Given the description of an element on the screen output the (x, y) to click on. 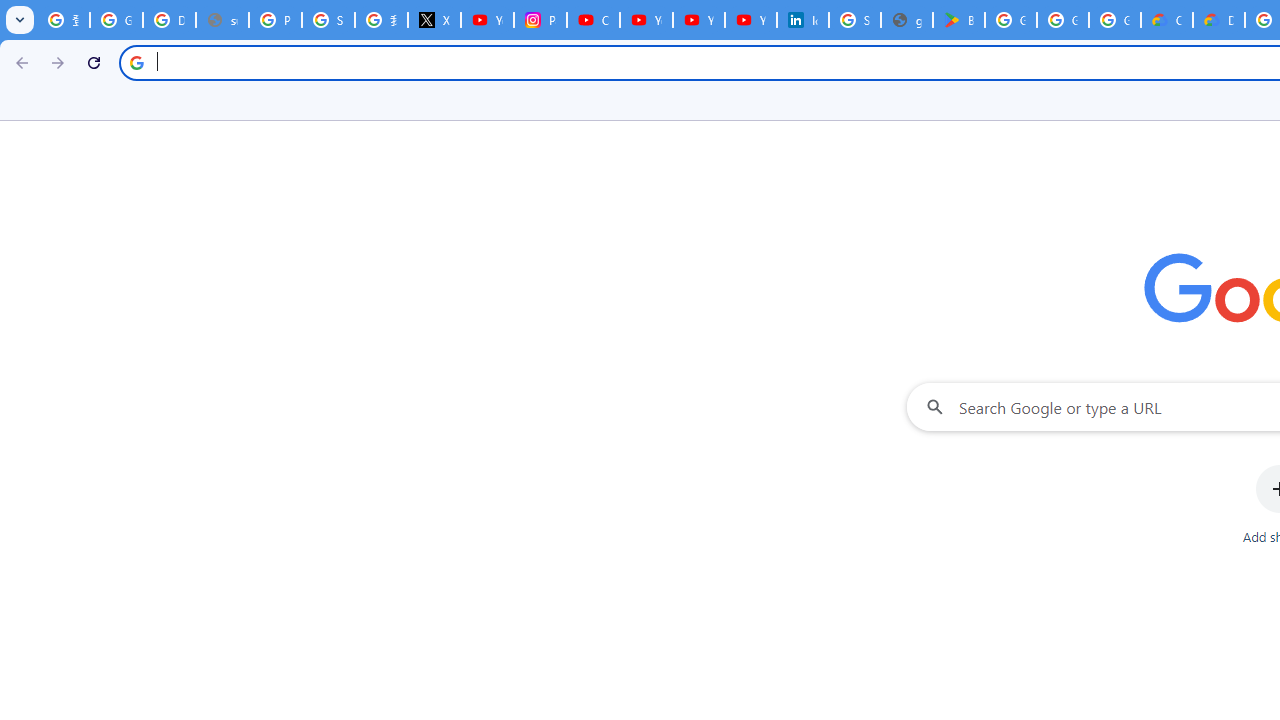
Privacy Help Center - Policies Help (275, 20)
google_privacy_policy_en.pdf (906, 20)
X (434, 20)
YouTube Content Monetization Policies - How YouTube Works (487, 20)
Google Workspace - Specific Terms (1062, 20)
